Given the description of an element on the screen output the (x, y) to click on. 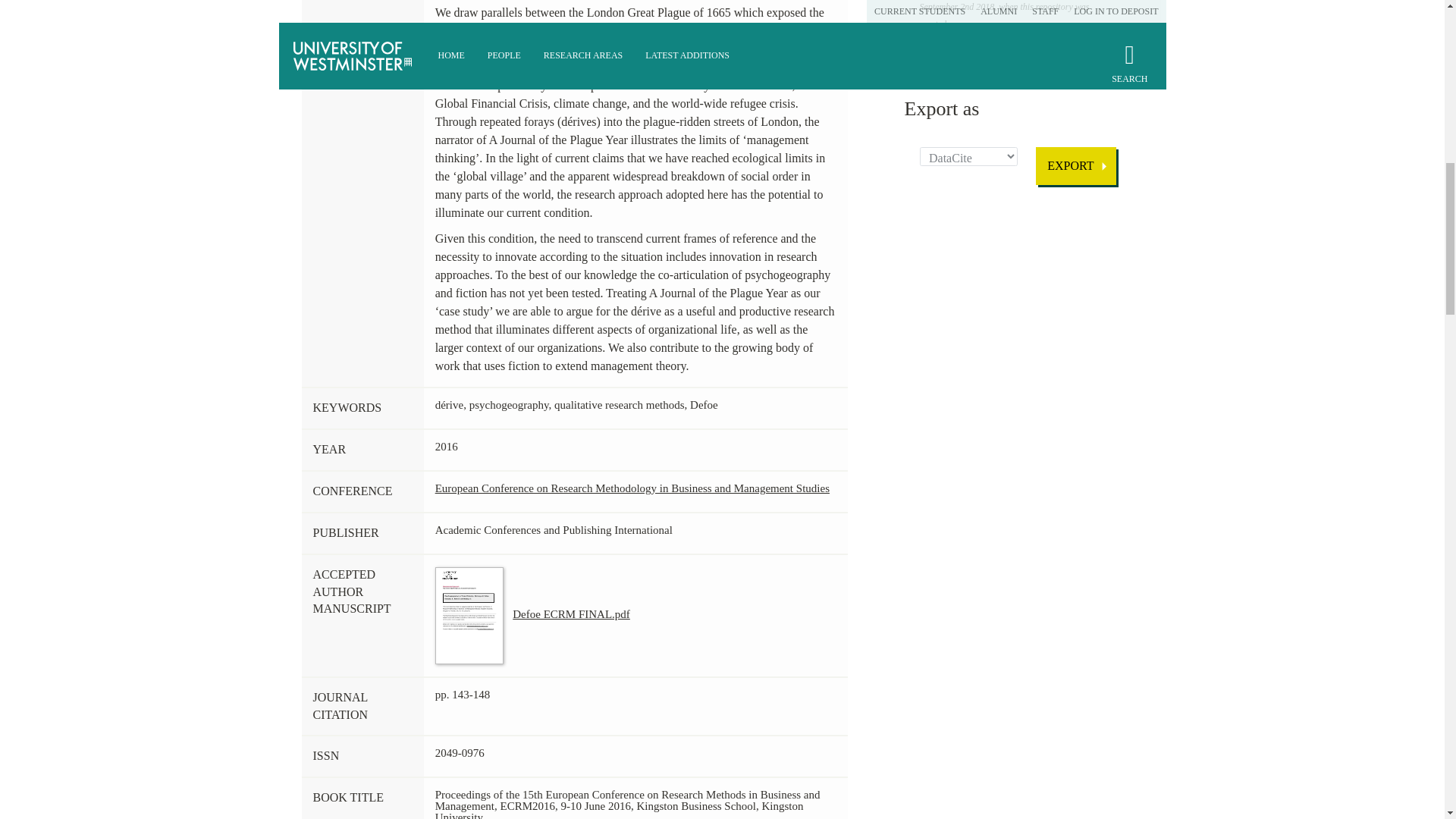
Defoe ECRM FINAL.pdf (532, 613)
